Given the description of an element on the screen output the (x, y) to click on. 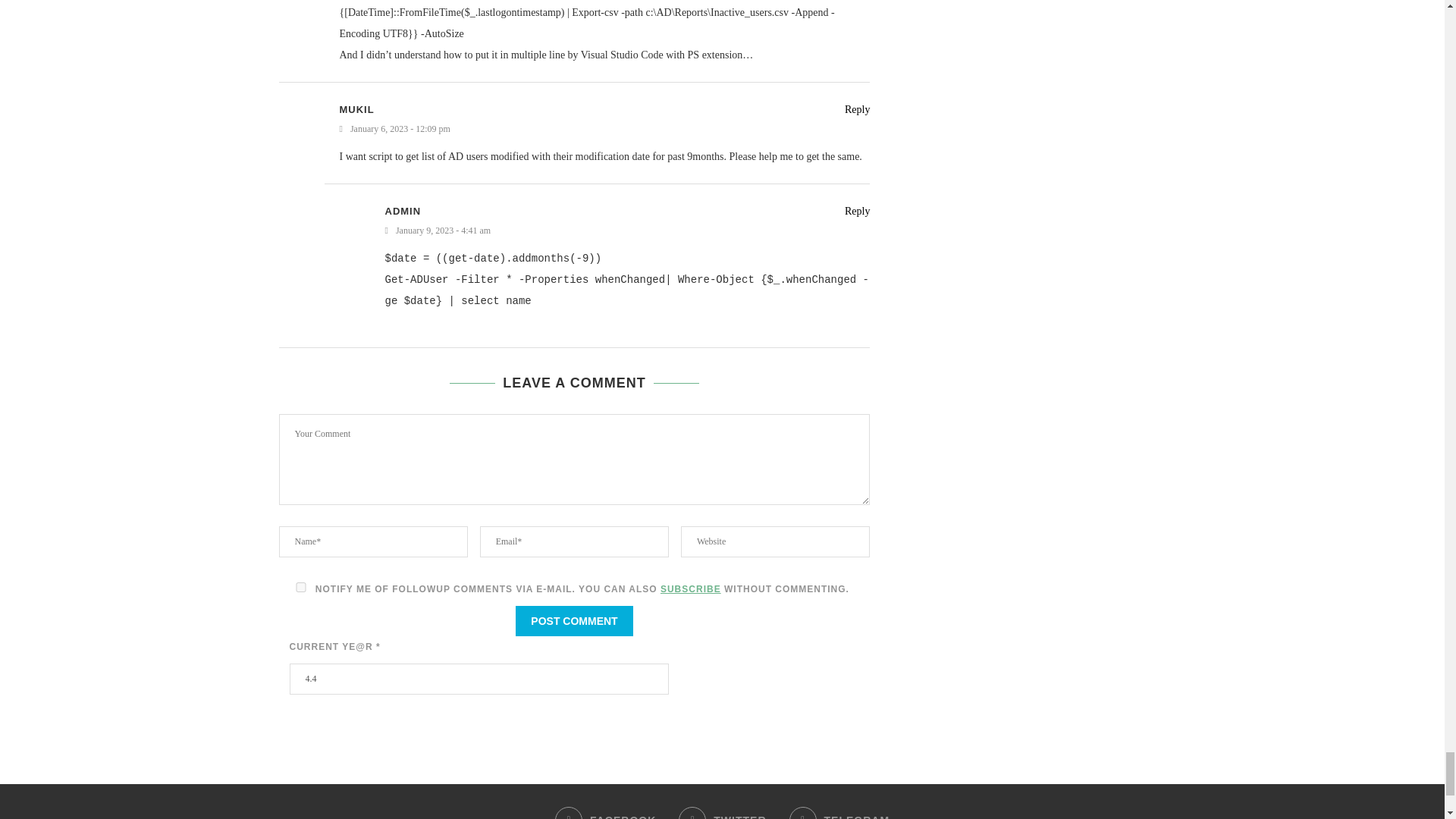
4.4 (478, 678)
yes (301, 587)
Post comment (573, 621)
